Given the description of an element on the screen output the (x, y) to click on. 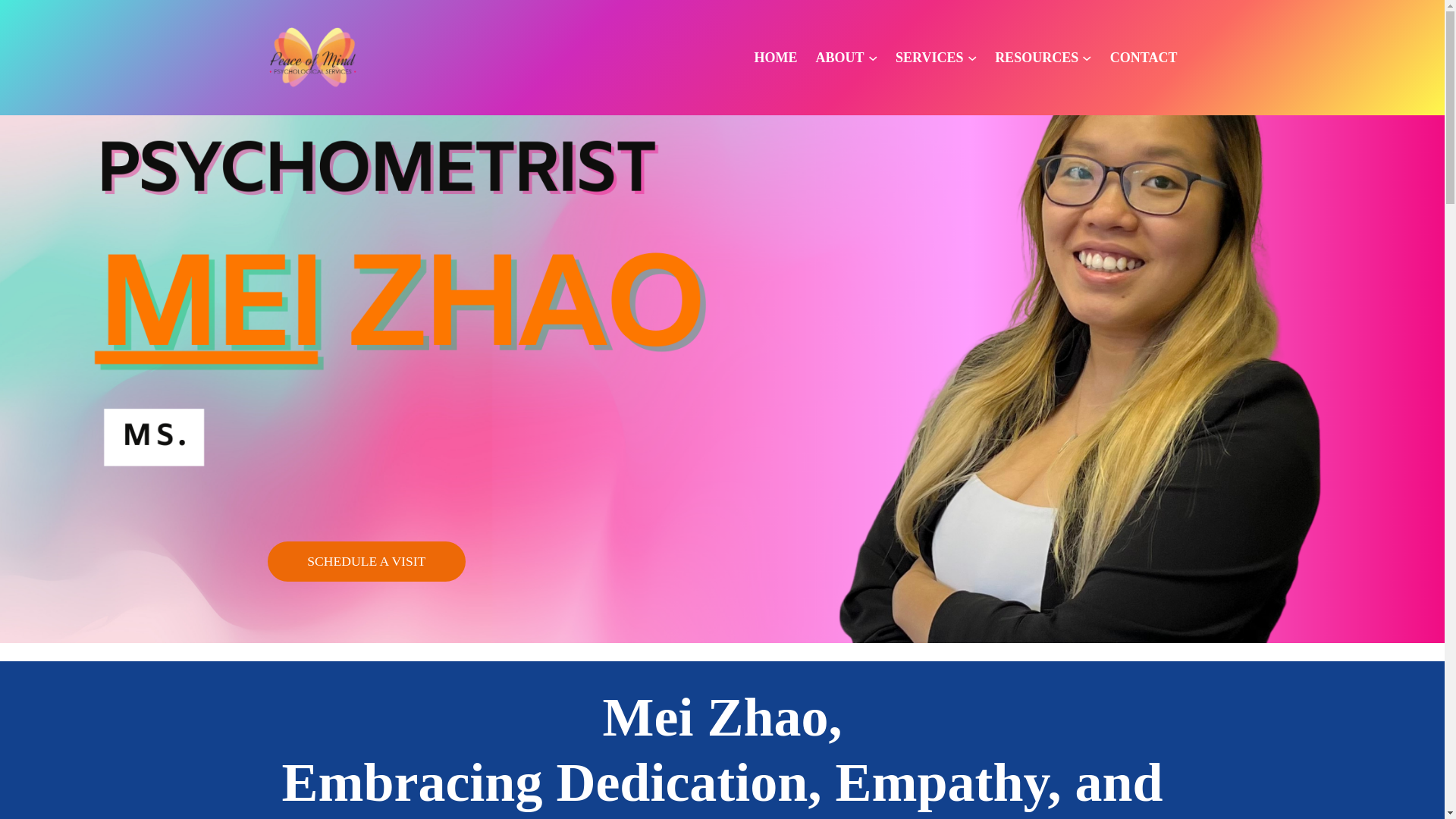
CONTACT (1143, 57)
SCHEDULE A VISIT (365, 561)
SERVICES (928, 57)
HOME (775, 57)
RESOURCES (1036, 57)
ABOUT (839, 57)
